Given the description of an element on the screen output the (x, y) to click on. 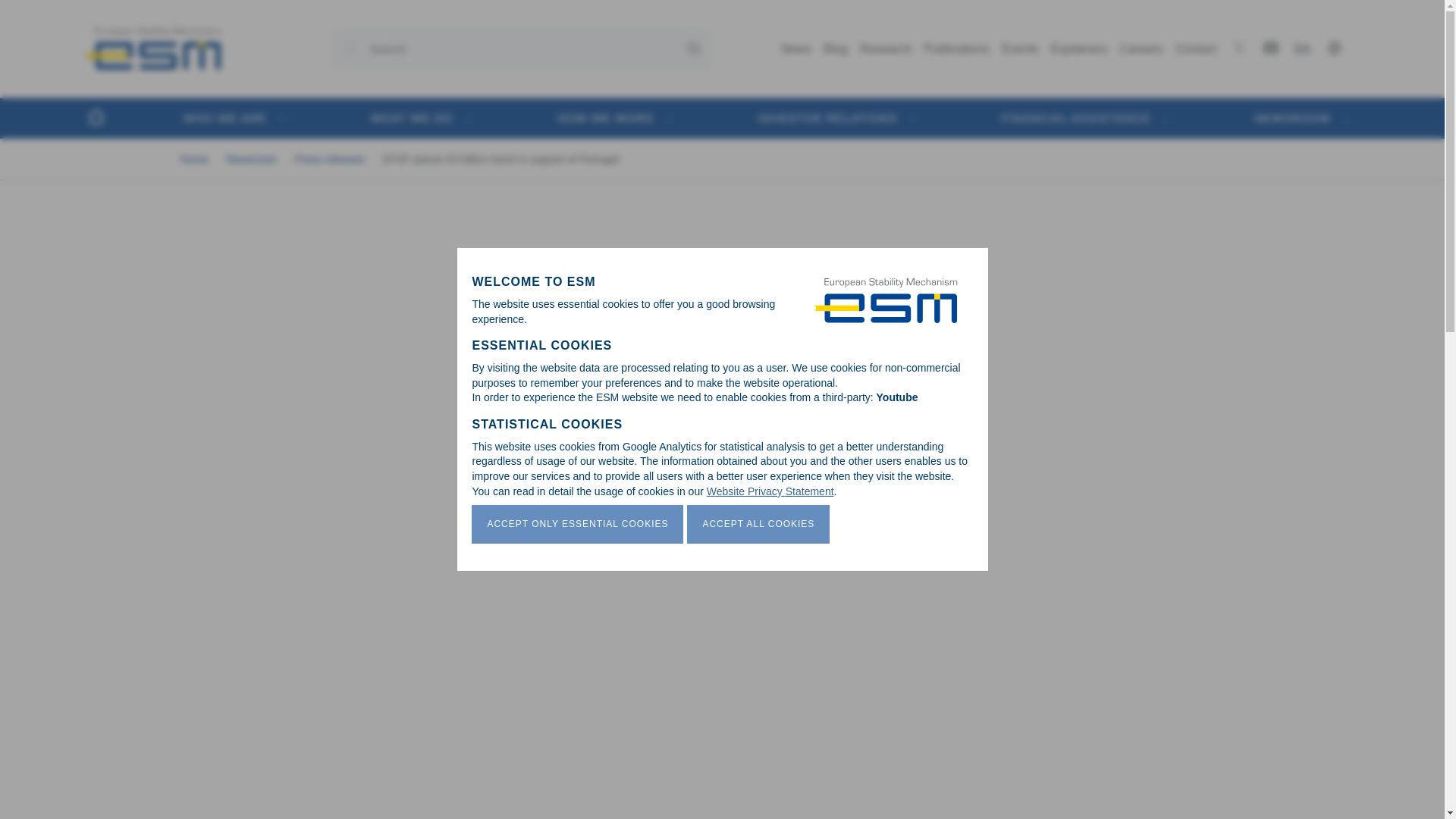
Research (885, 48)
Publications (956, 48)
Spotify (1337, 47)
Careers (1141, 48)
WHO WE ARE (225, 116)
Blog (834, 48)
News (795, 48)
Contact (1196, 48)
Linkedin (1306, 47)
Events (1020, 48)
Explainers (1079, 48)
Home (152, 48)
Twitter (1242, 47)
Search (117, 33)
